Given the description of an element on the screen output the (x, y) to click on. 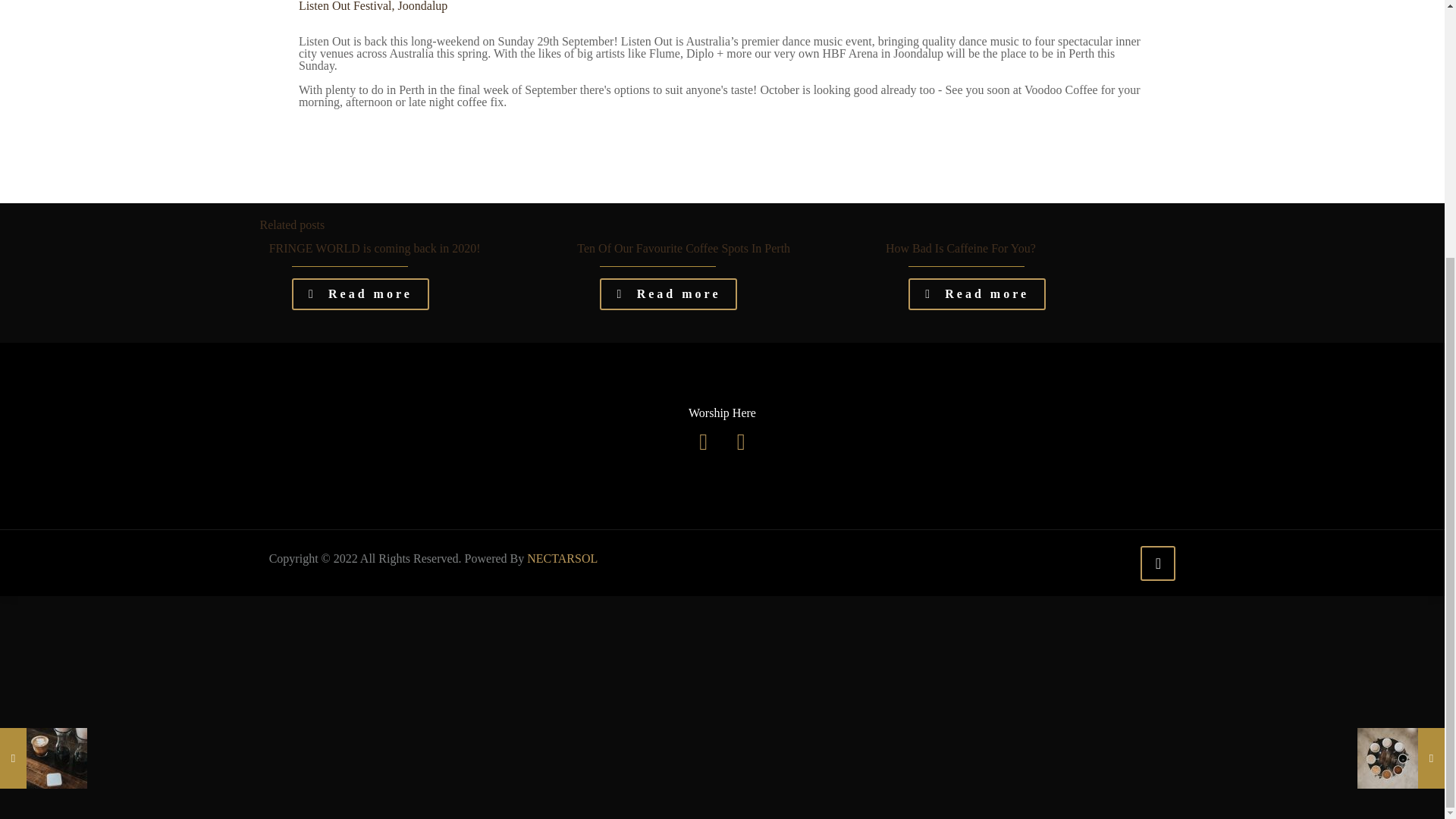
Read more (976, 294)
How Bad Is Caffeine For You? (960, 247)
FRINGE WORLD is coming back in 2020! (374, 247)
Read more (667, 294)
Read more (360, 294)
NECTARSOL (561, 558)
Ten Of Our Favourite Coffee Spots In Perth (683, 247)
